Given the description of an element on the screen output the (x, y) to click on. 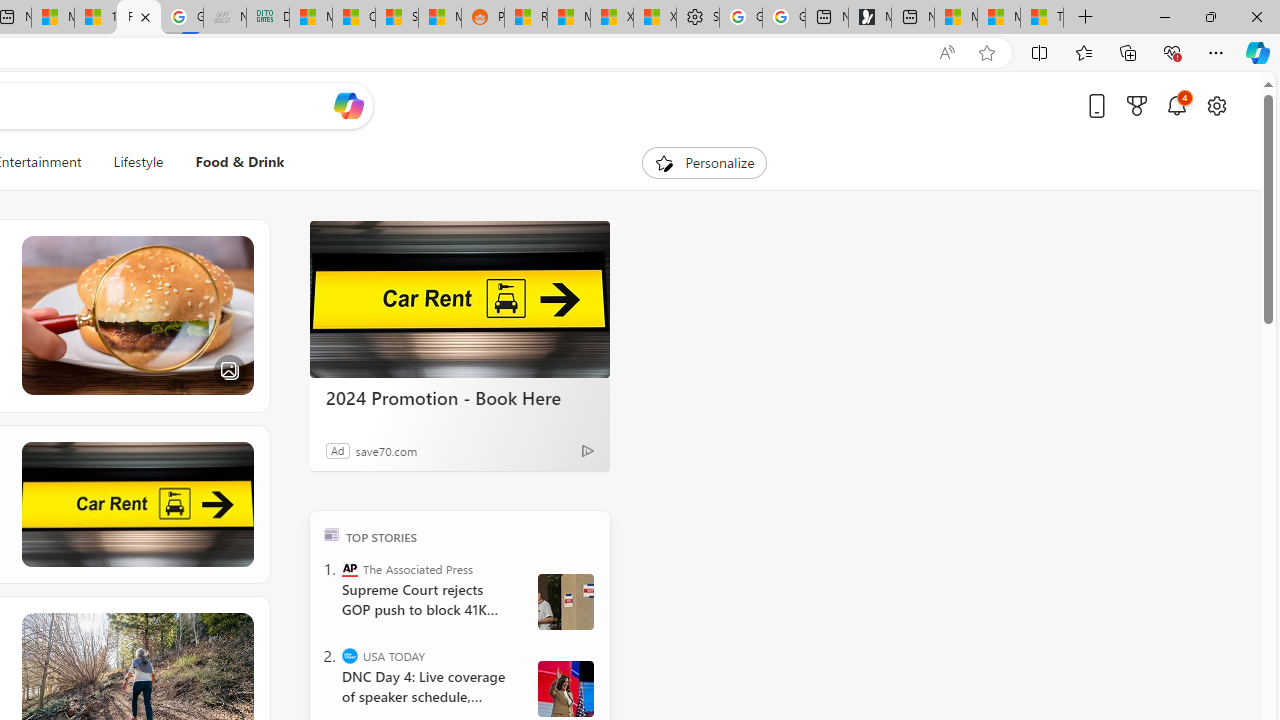
These 3 Stocks Pay You More Than 5% to Own Them (1042, 17)
The Associated Press (349, 568)
